Given the description of an element on the screen output the (x, y) to click on. 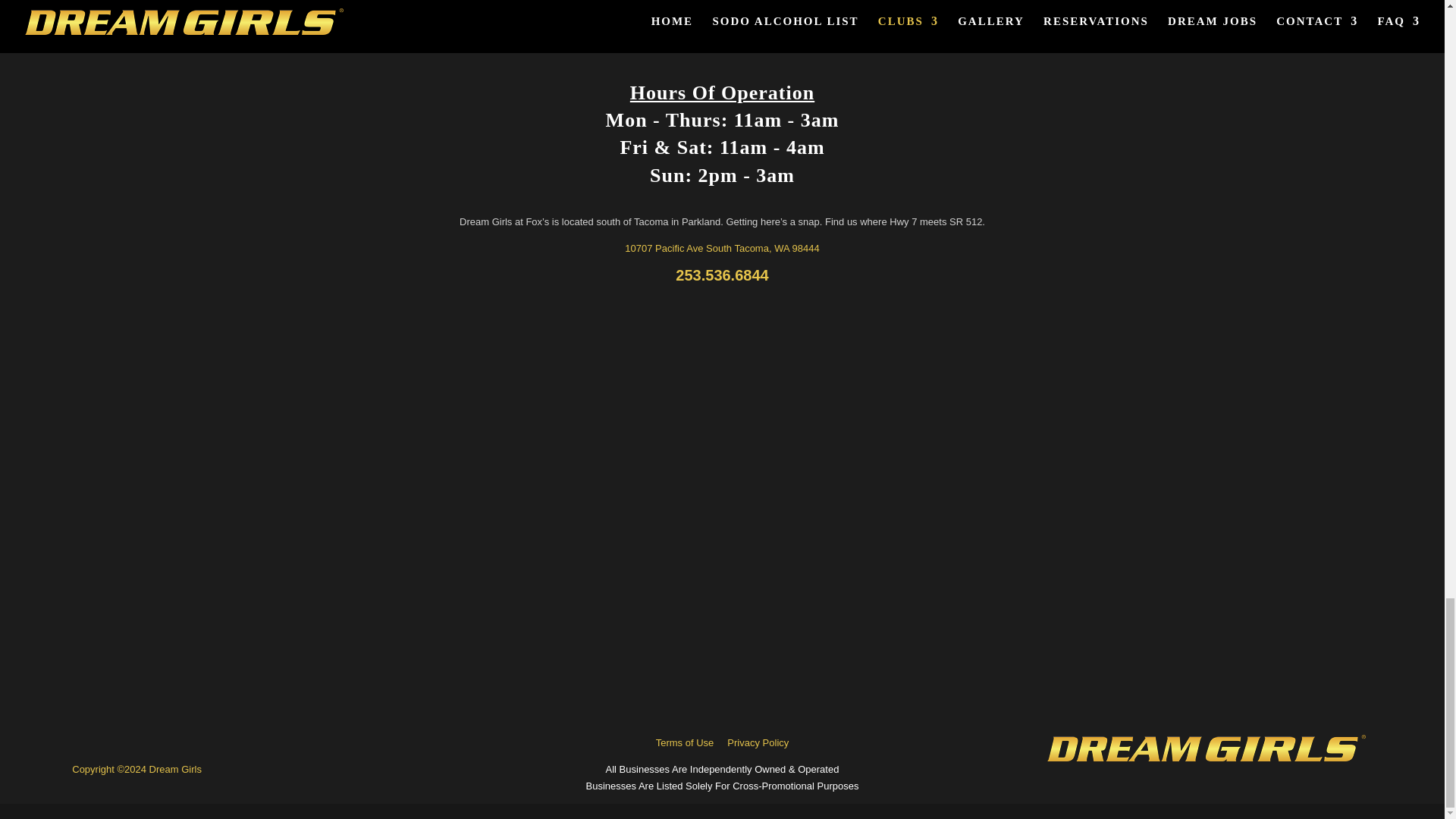
253.536.6844 (721, 274)
Privacy Policy (757, 742)
Terms of Use (685, 742)
10707 Pacific Ave South Tacoma, WA 98444 (721, 247)
